Given the description of an element on the screen output the (x, y) to click on. 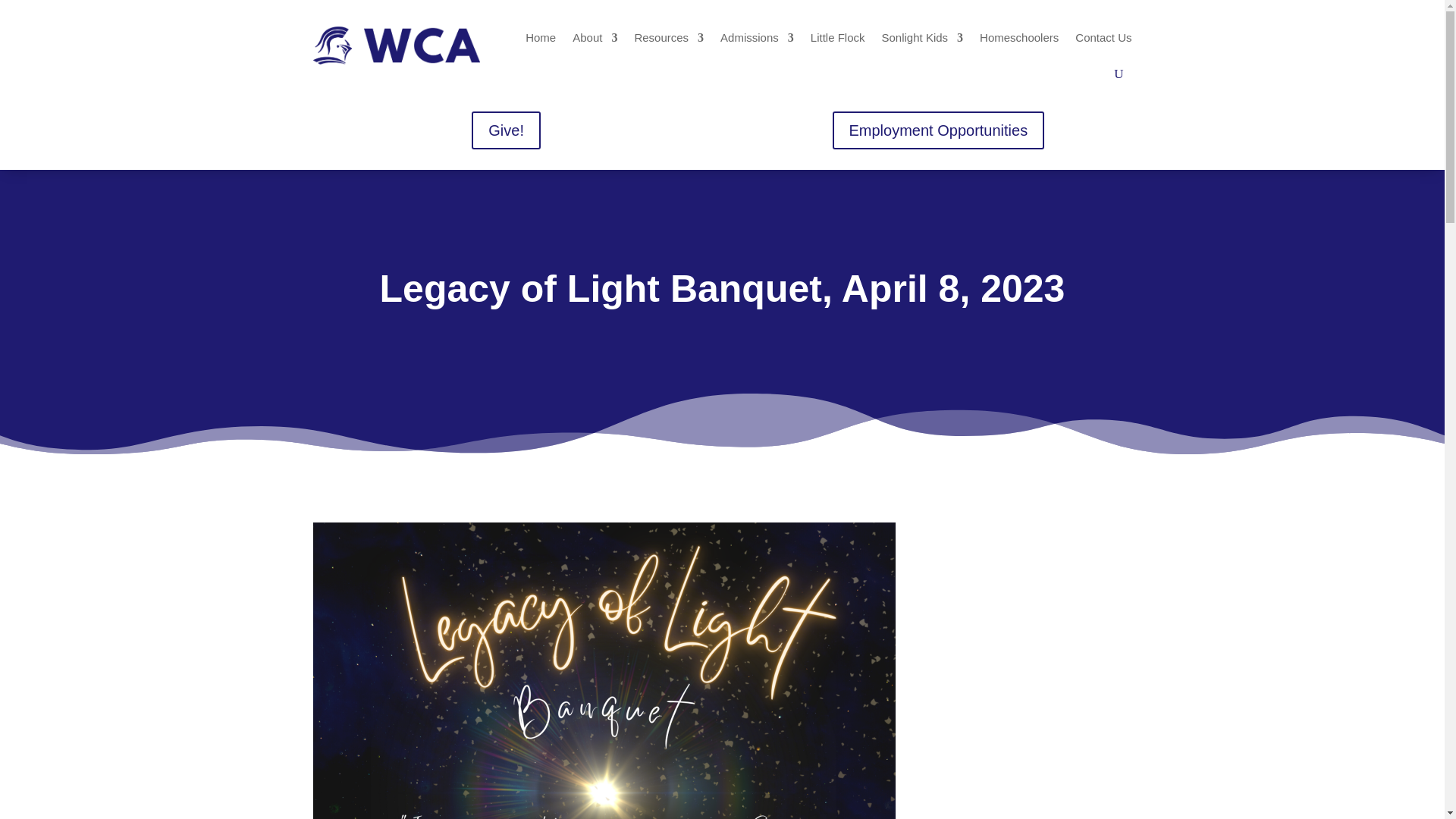
Little Flock (837, 37)
Admissions (756, 37)
Resources (668, 37)
Homeschoolers (1018, 37)
Contact Us (1103, 37)
Sonlight Kids (922, 37)
